Given the description of an element on the screen output the (x, y) to click on. 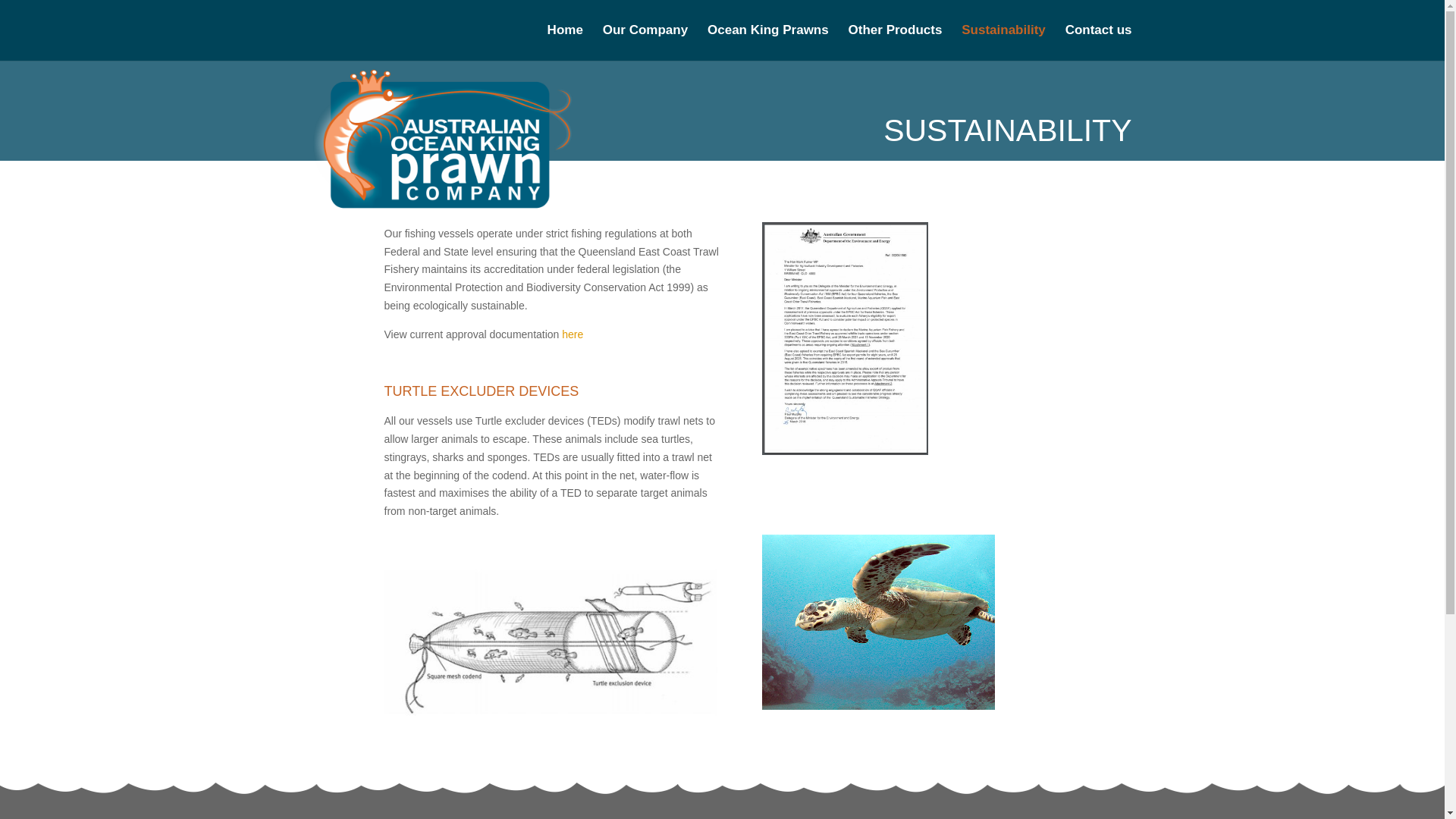
Contact us (1098, 42)
Our Company (644, 42)
Ocean King Prawns (767, 42)
here (572, 334)
Other Products (895, 42)
Sustainability (1002, 42)
Home (565, 42)
